Given the description of an element on the screen output the (x, y) to click on. 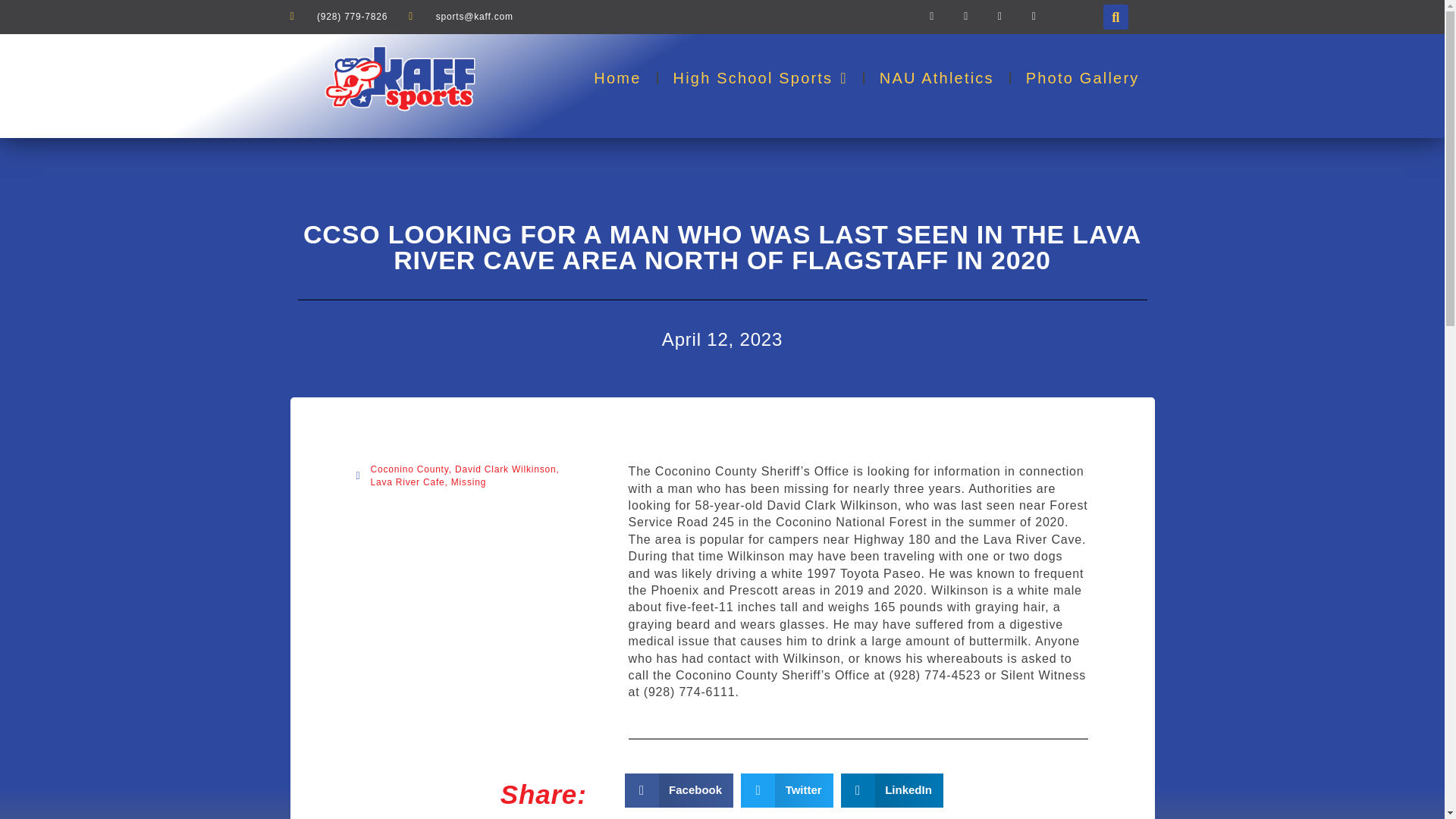
Coconino County (408, 469)
Missing (468, 481)
Lava River Cafe (406, 481)
NAU Athletics (936, 77)
High School Sports (760, 77)
David Clark Wilkinson (505, 469)
Home (617, 77)
Photo Gallery (1082, 77)
